Given the description of an element on the screen output the (x, y) to click on. 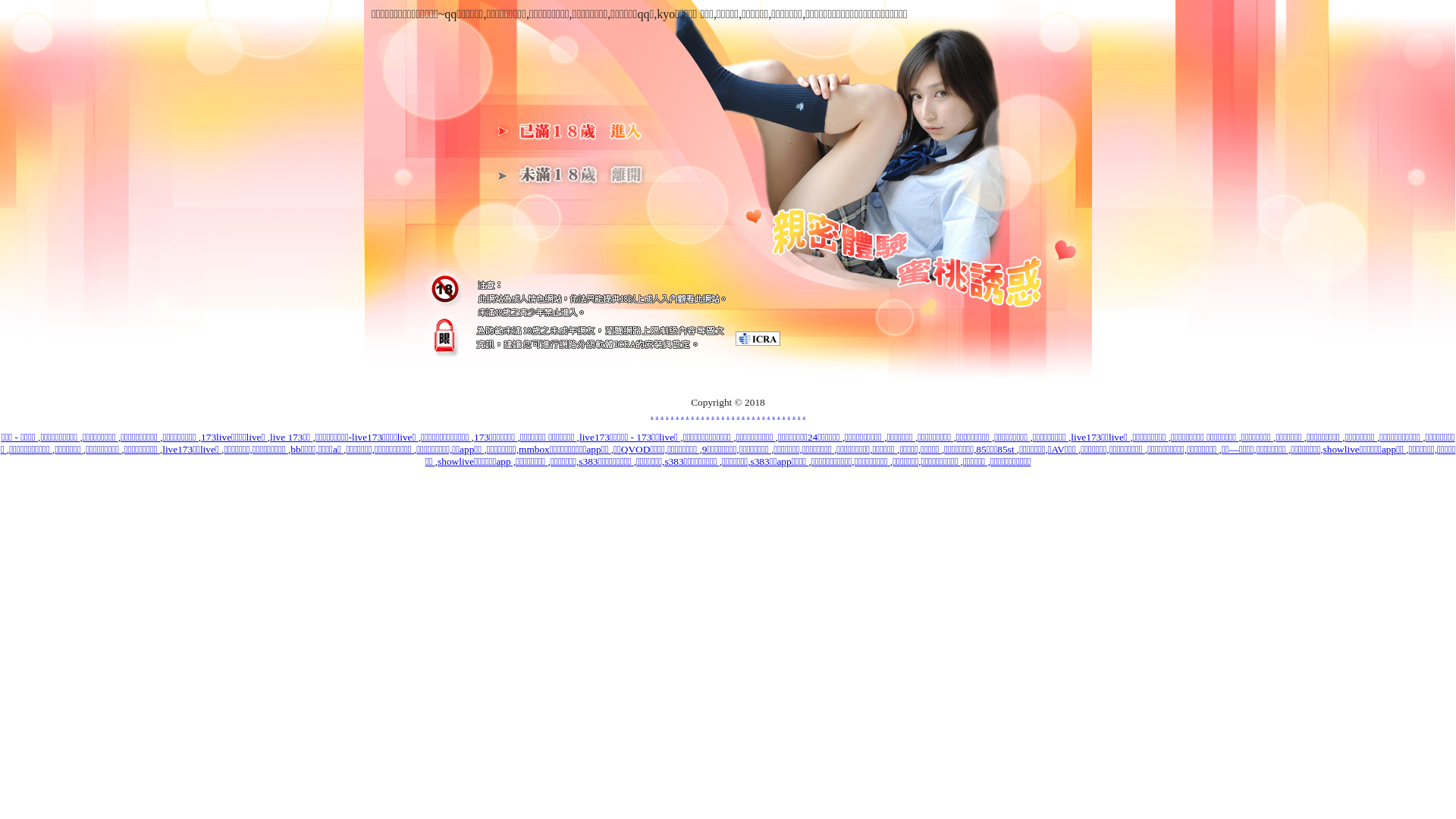
. Element type: text (672, 414)
. Element type: text (804, 414)
. Element type: text (732, 414)
. Element type: text (788, 414)
. Element type: text (768, 414)
. Element type: text (717, 414)
. Element type: text (757, 414)
. Element type: text (681, 414)
. Element type: text (712, 414)
. Element type: text (666, 414)
. Element type: text (661, 414)
. Element type: text (707, 414)
. Element type: text (798, 414)
. Element type: text (687, 414)
. Element type: text (656, 414)
. Element type: text (783, 414)
. Element type: text (793, 414)
. Element type: text (722, 414)
. Element type: text (676, 414)
. Element type: text (738, 414)
. Element type: text (747, 414)
. Element type: text (742, 414)
. Element type: text (753, 414)
. Element type: text (763, 414)
. Element type: text (651, 414)
. Element type: text (778, 414)
. Element type: text (692, 414)
. Element type: text (773, 414)
. Element type: text (702, 414)
. Element type: text (697, 414)
. Element type: text (727, 414)
